Given the description of an element on the screen output the (x, y) to click on. 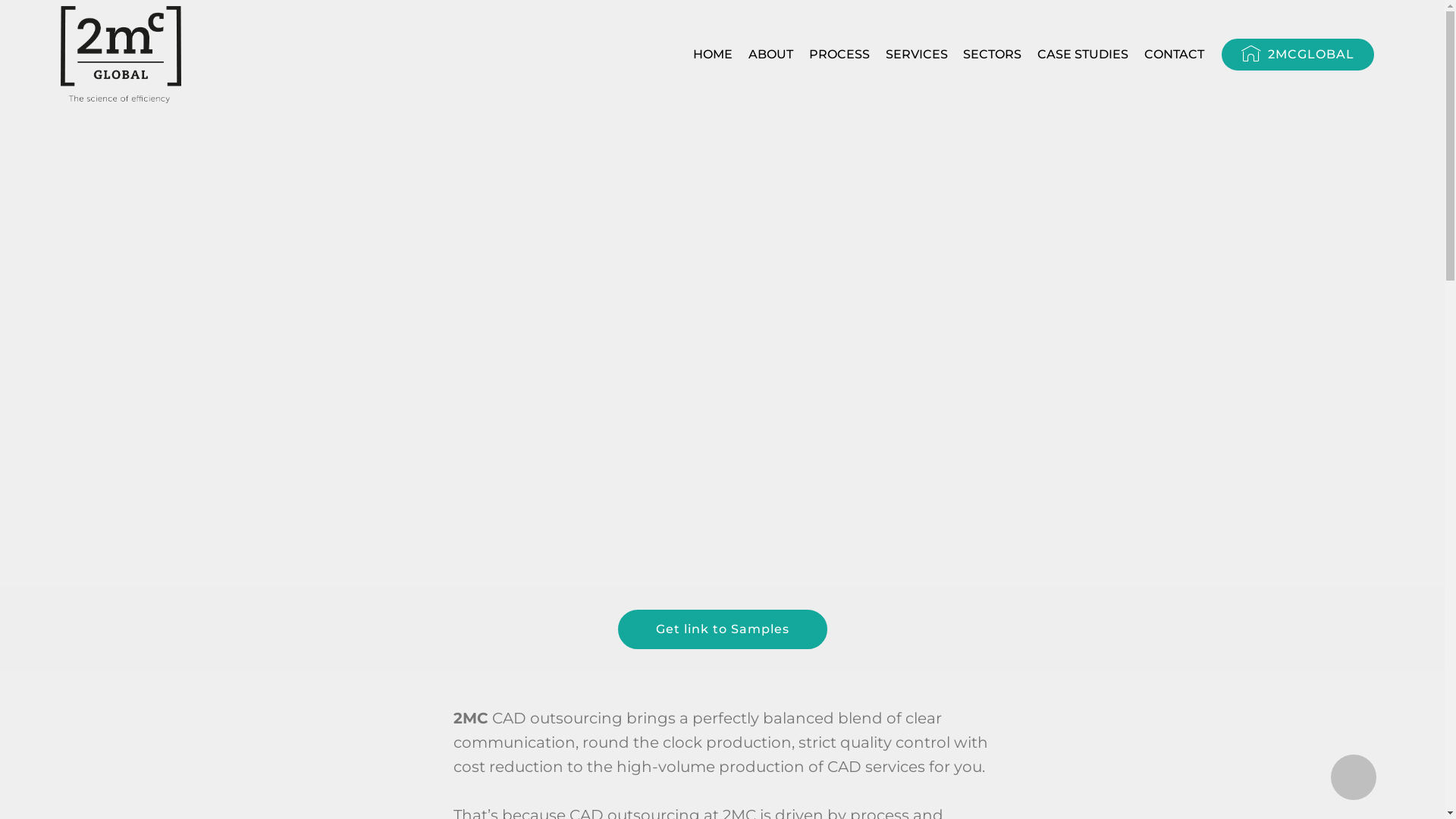
CASE STUDIES Element type: text (1082, 54)
2MCGLOBAL Element type: text (1297, 54)
SERVICES Element type: text (916, 54)
PROCESS Element type: text (839, 54)
ABOUT Element type: text (770, 54)
CONTACT Element type: text (1174, 54)
SECTORS Element type: text (992, 54)
Get link to Samples Element type: text (721, 629)
HOME Element type: text (712, 54)
